Given the description of an element on the screen output the (x, y) to click on. 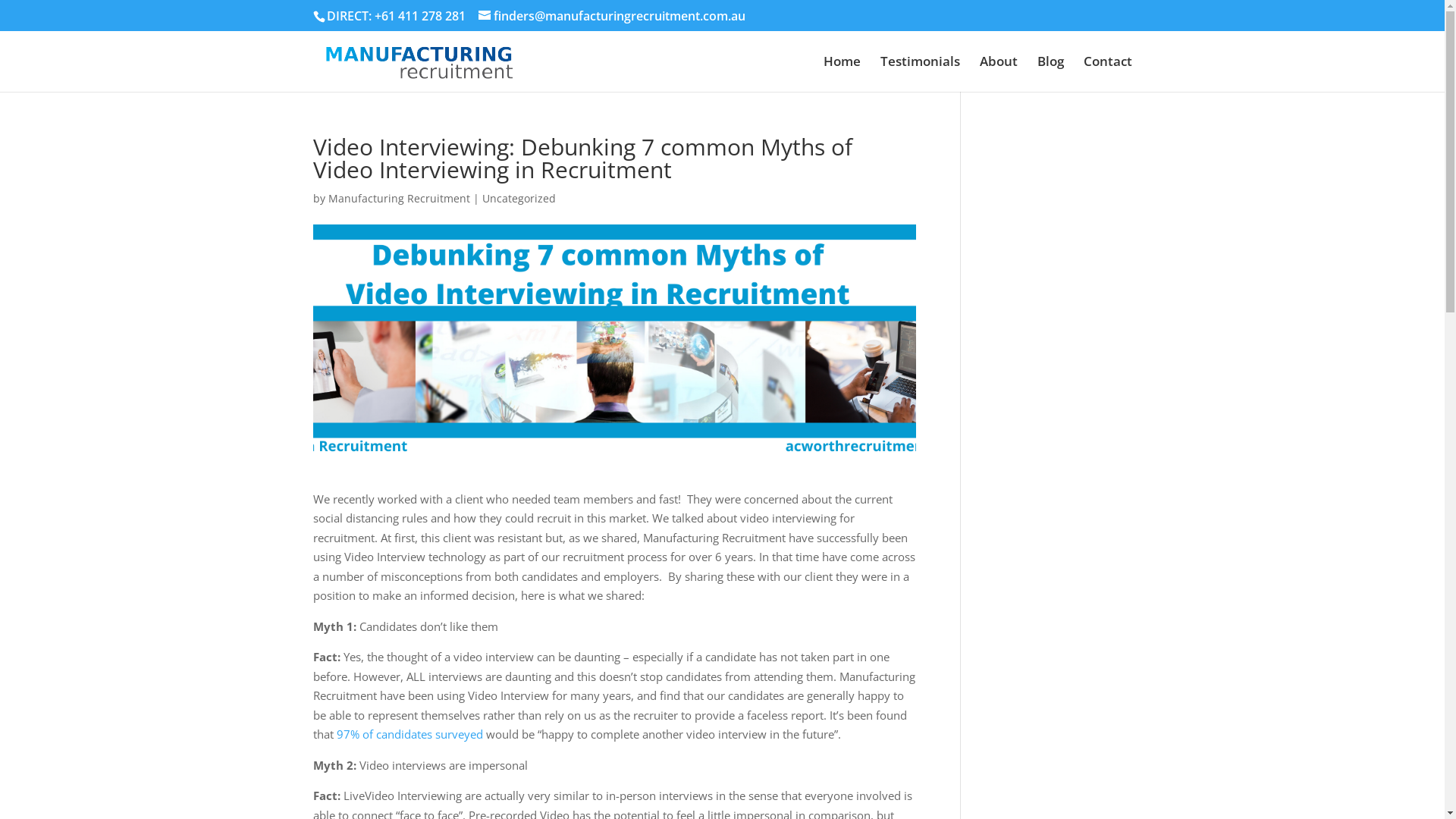
Contact Element type: text (1106, 73)
Blog Element type: text (1050, 73)
97% of candidates surveyed Element type: text (409, 733)
Manufacturing Recruitment Element type: text (398, 198)
Testimonials Element type: text (919, 73)
finders@manufacturingrecruitment.com.au Element type: text (610, 15)
About Element type: text (998, 73)
Home Element type: text (841, 73)
Uncategorized Element type: text (518, 198)
